Given the description of an element on the screen output the (x, y) to click on. 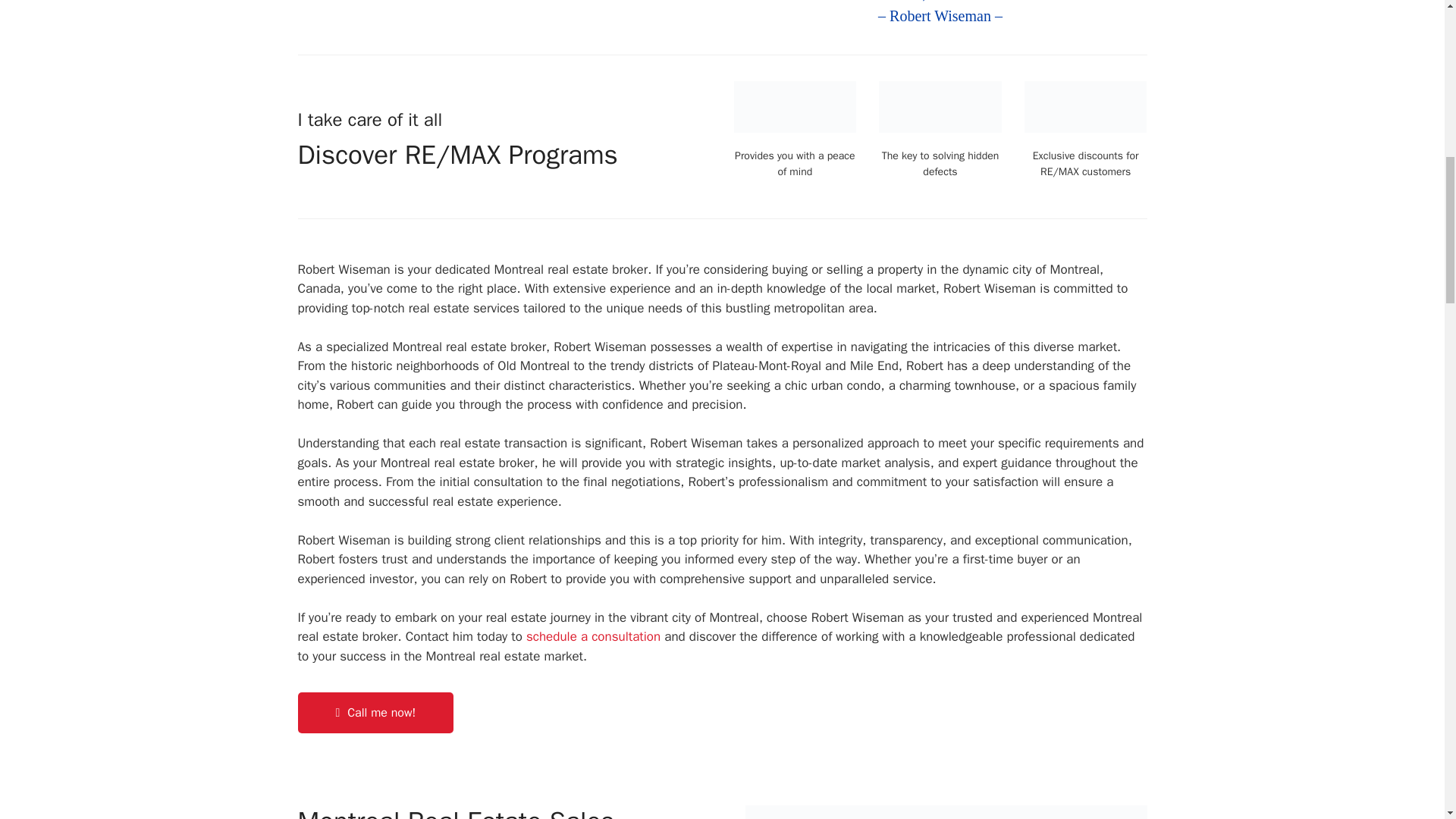
Call me now! (374, 712)
schedule a consultation (593, 636)
Real Estate Sales (945, 812)
Tranquilli-T (795, 106)
Integri-T (940, 106)
